Given the description of an element on the screen output the (x, y) to click on. 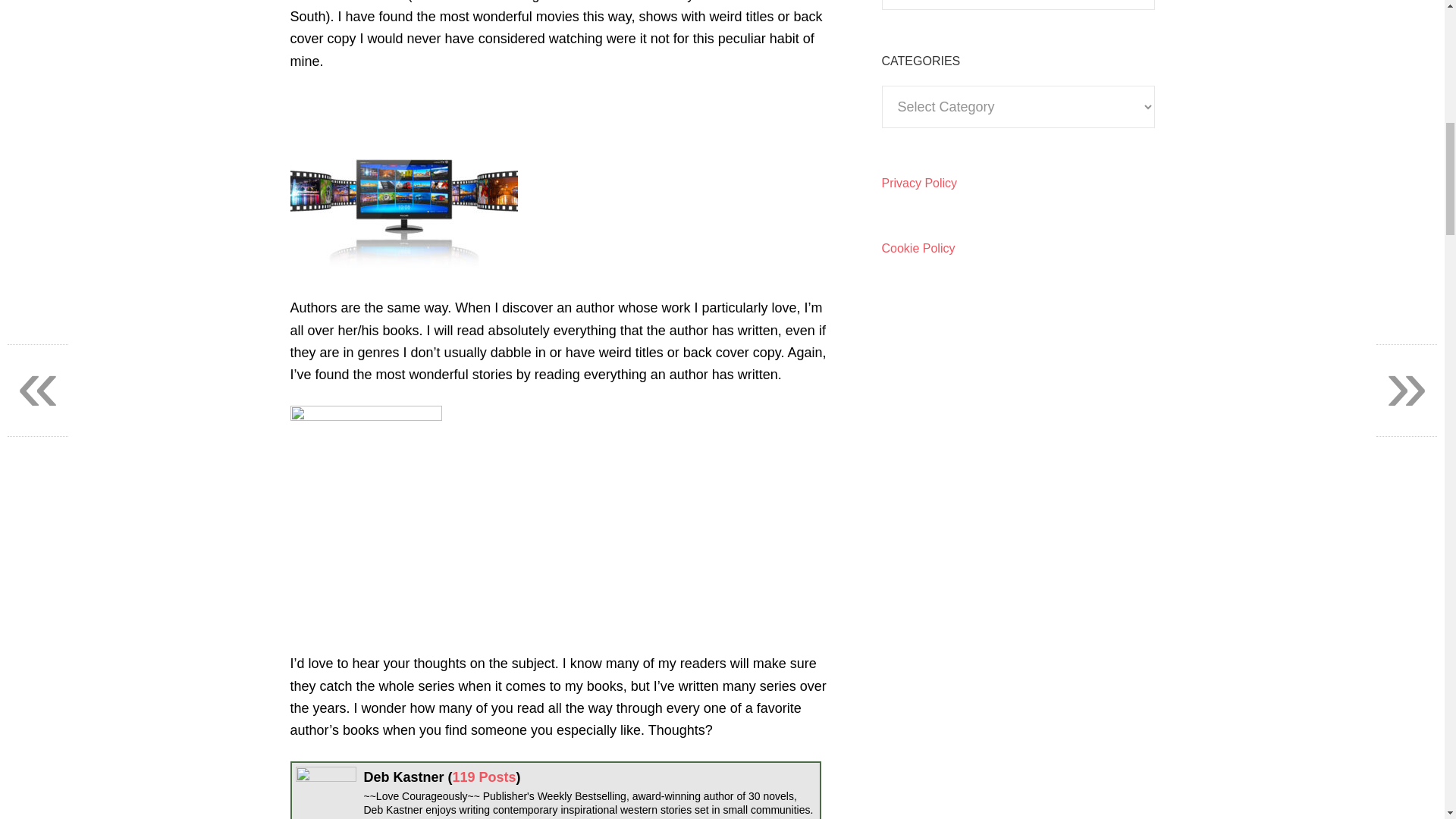
Privacy Policy (918, 182)
119 Posts (484, 776)
Cookie Policy (917, 246)
